Given the description of an element on the screen output the (x, y) to click on. 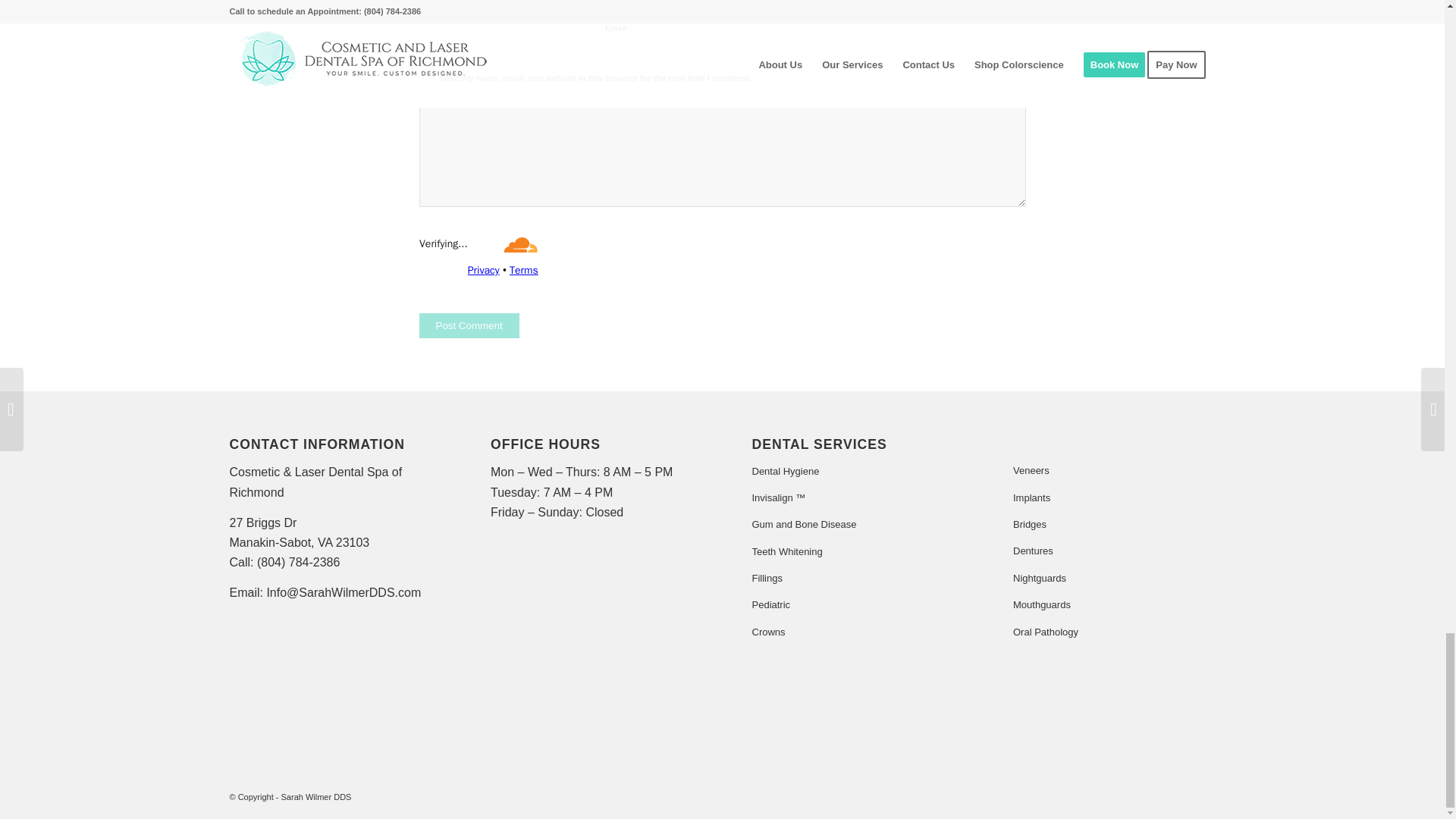
Post Comment (468, 325)
yes (426, 74)
